Given the description of an element on the screen output the (x, y) to click on. 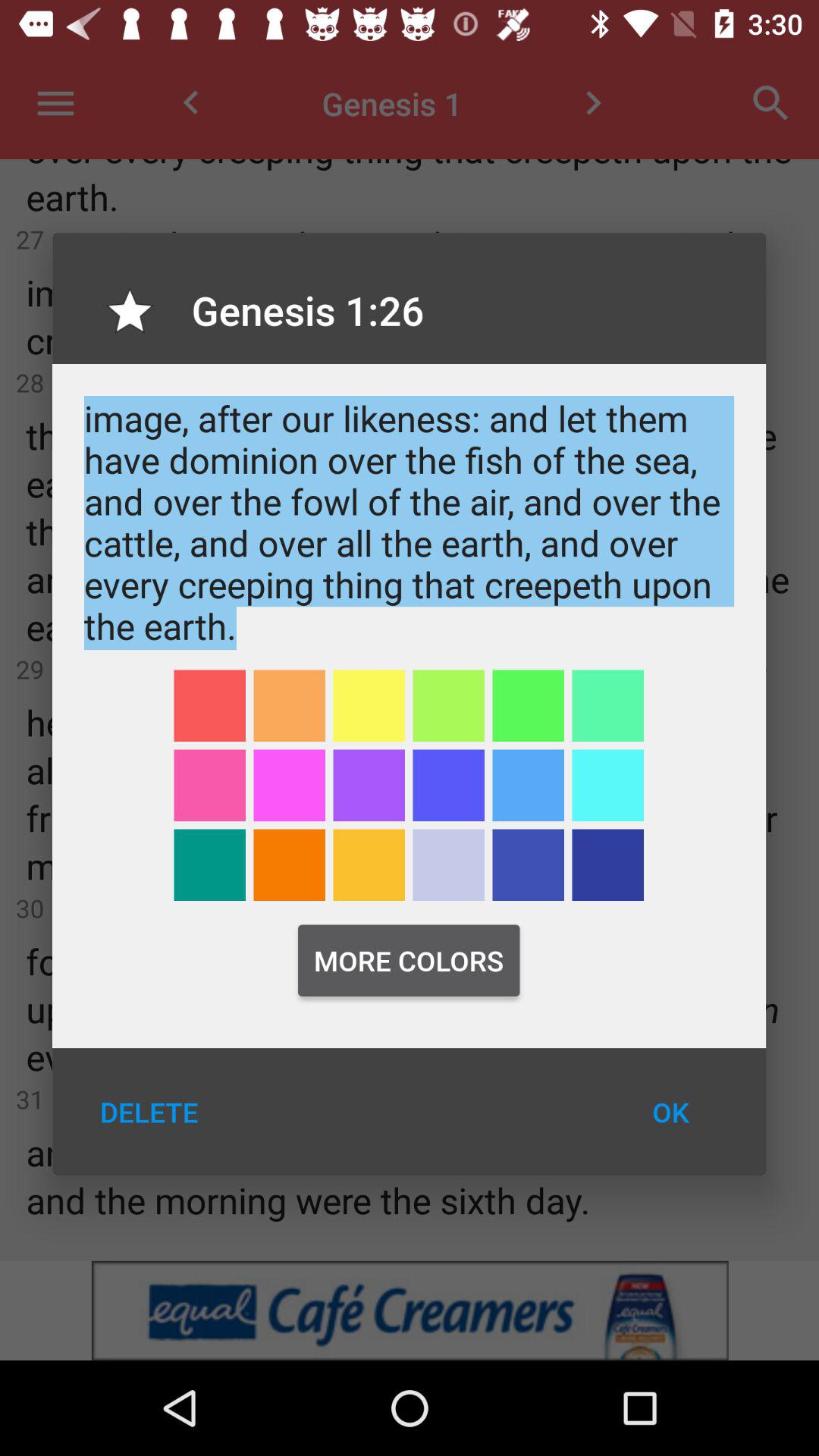
click icon above more colors item (528, 864)
